Given the description of an element on the screen output the (x, y) to click on. 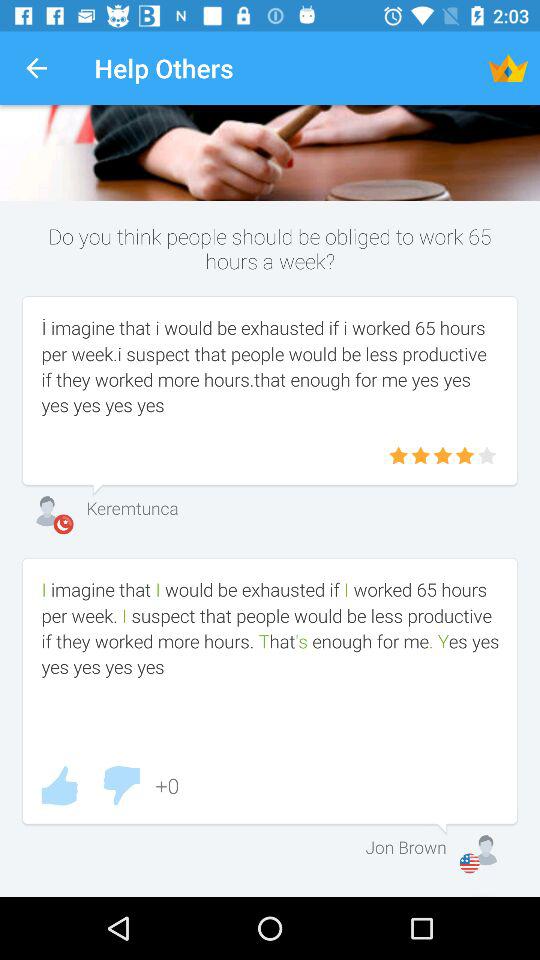
dislike the comment (121, 785)
